Given the description of an element on the screen output the (x, y) to click on. 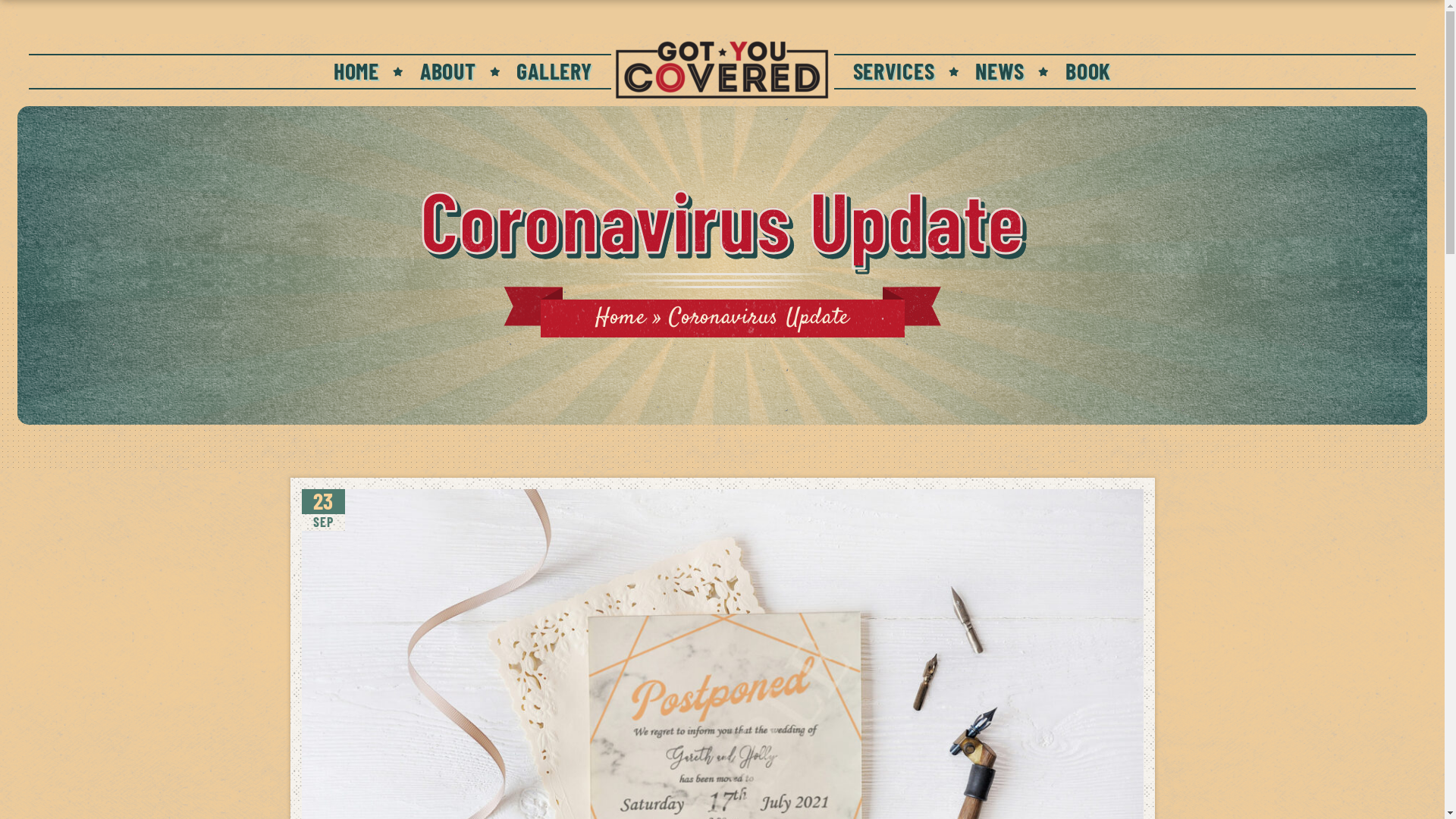
NEWS Element type: text (999, 69)
Facebook Element type: hover (1079, 11)
HOME Element type: text (356, 69)
Instagram Element type: hover (1117, 11)
BOOK Element type: text (1087, 69)
Twitter Element type: hover (1099, 11)
SERVICES Element type: text (893, 69)
GALLERY Element type: text (553, 69)
Home Element type: text (620, 317)
23
SEP Element type: text (323, 509)
ABOUT Element type: text (448, 69)
Linkedin Element type: hover (1155, 11)
